Given the description of an element on the screen output the (x, y) to click on. 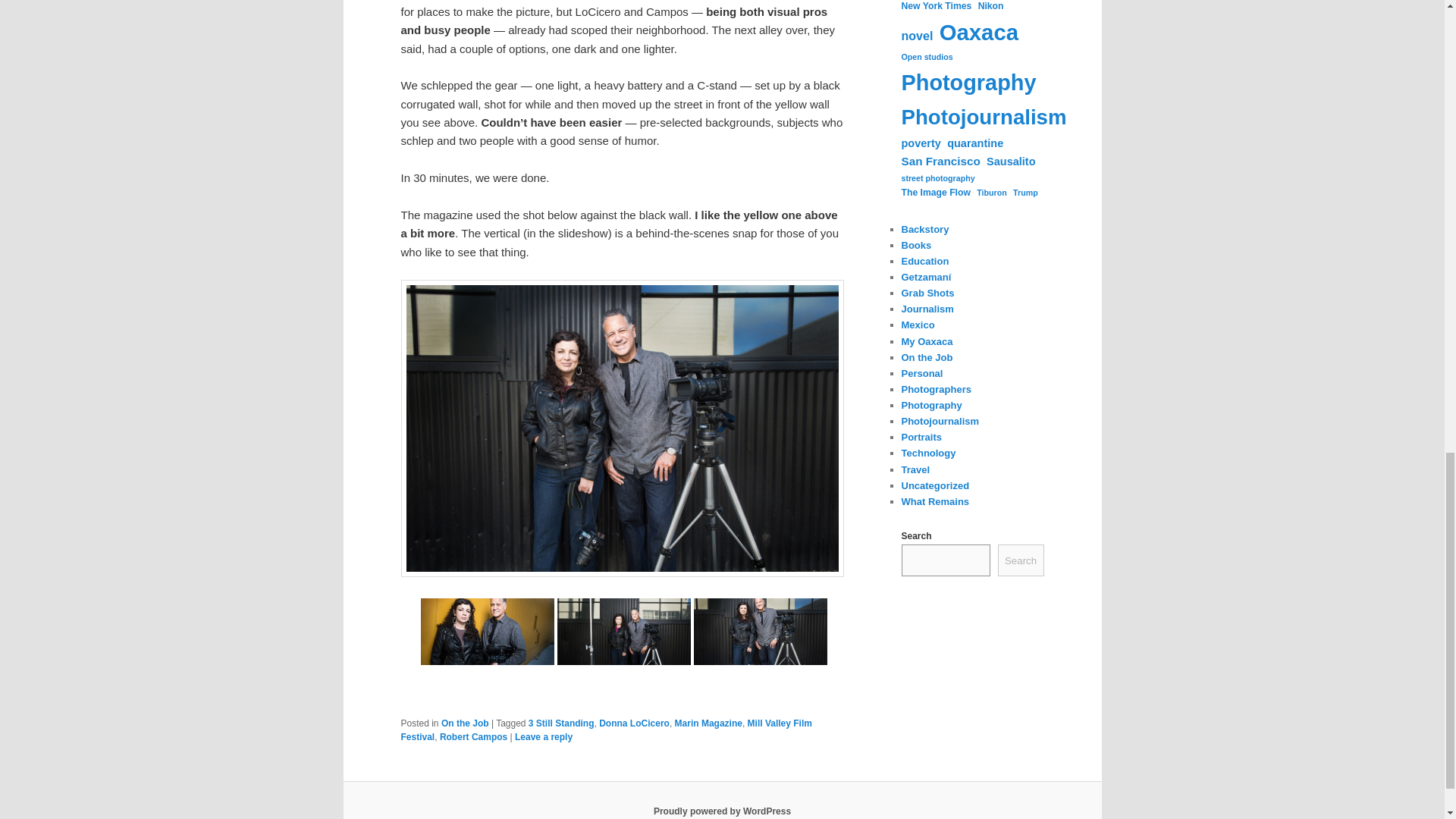
3 Still Standing (561, 723)
Donna LoCicero (633, 723)
Semantic Personal Publishing Platform (721, 810)
Robert Campos (472, 737)
Marin Magazine (708, 723)
On the Job (465, 723)
Mill Valley Film Festival (605, 730)
Leave a reply (543, 737)
